Given the description of an element on the screen output the (x, y) to click on. 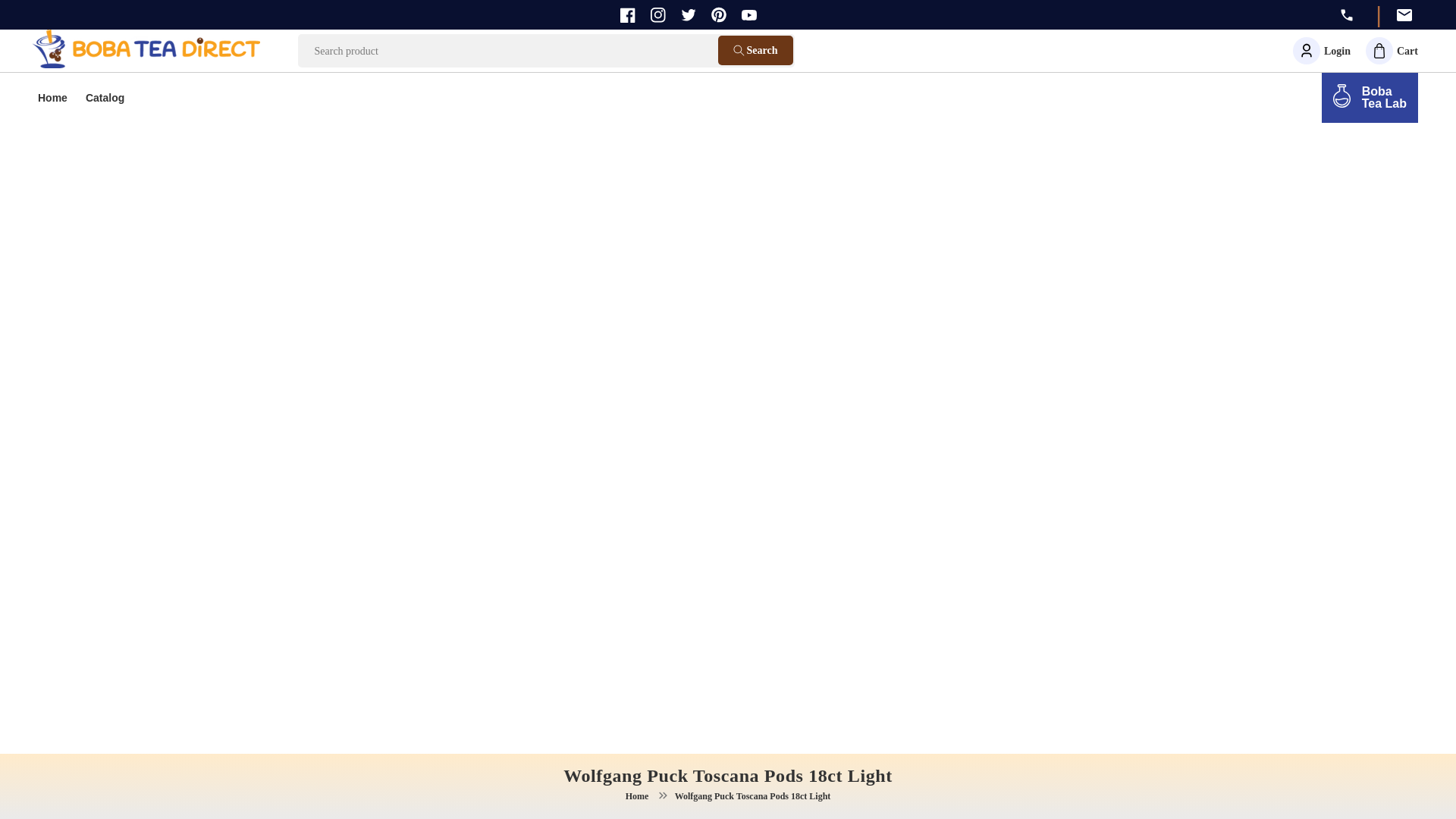
Login (1321, 50)
Instagram (657, 14)
Facebook (627, 14)
Pinterest (718, 14)
Home (636, 796)
Skip to content (45, 17)
YouTube (749, 14)
Cart (1370, 97)
Home (1391, 50)
Twitter (53, 97)
Catalog (688, 14)
Search (105, 97)
